Given the description of an element on the screen output the (x, y) to click on. 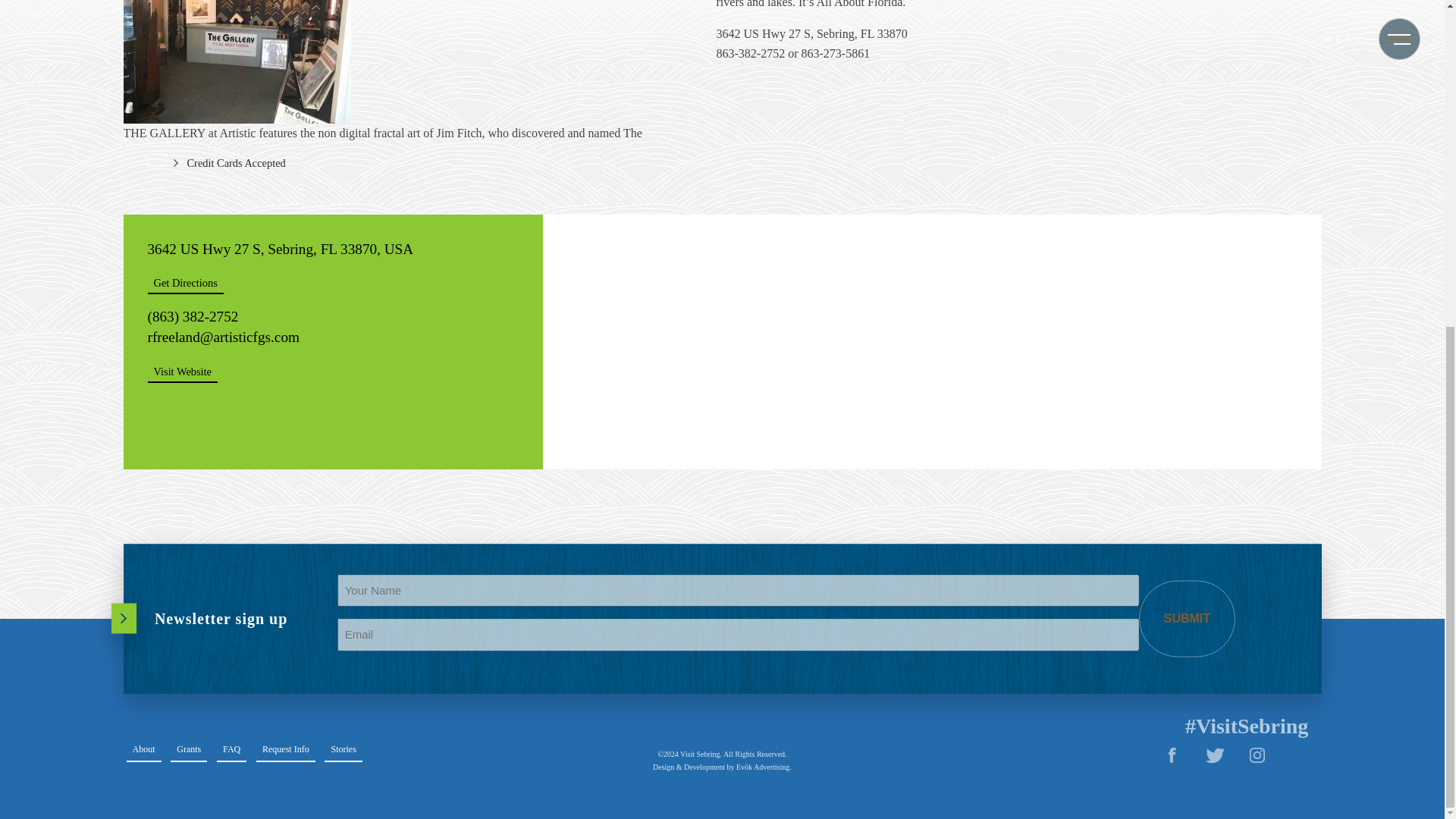
Go to the grants page (188, 749)
Go to the about page (142, 749)
